Given the description of an element on the screen output the (x, y) to click on. 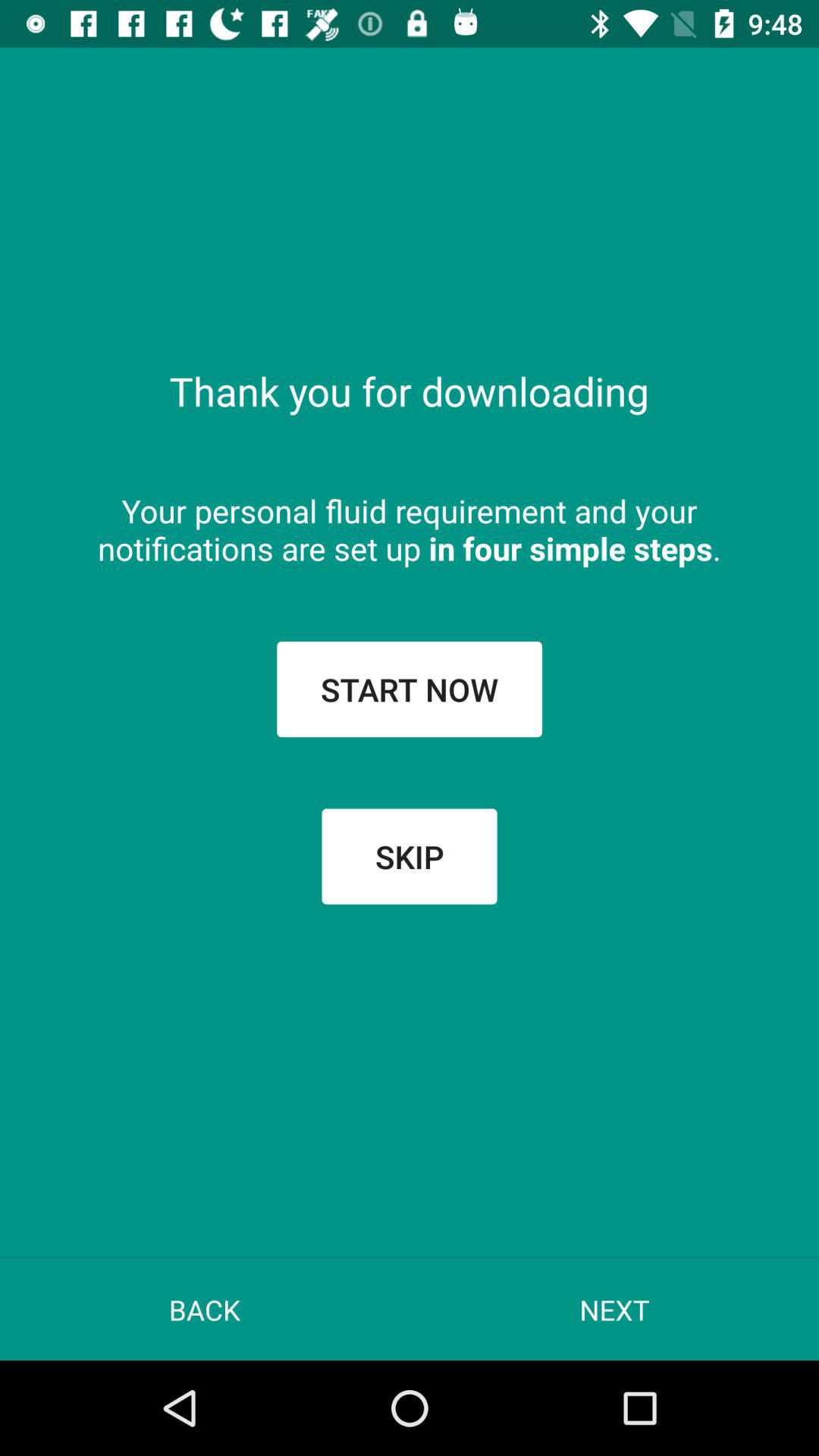
choose start now icon (409, 689)
